Given the description of an element on the screen output the (x, y) to click on. 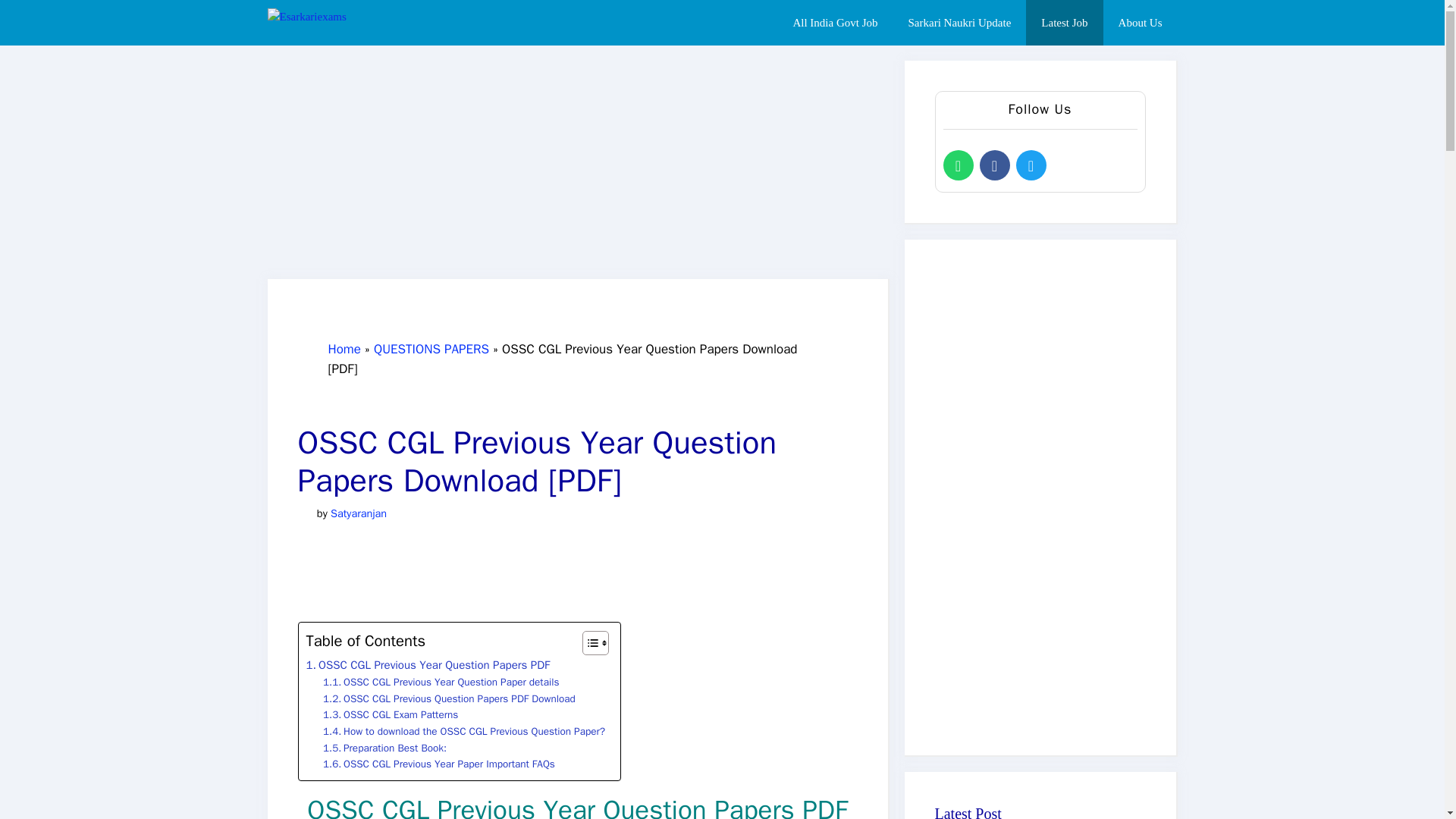
OSSC CGL Previous Year Question Paper details (441, 682)
OSSC CGL Exam Patterns (390, 714)
OSSC CGL Previous Question Papers PDF Download (449, 699)
Home (343, 349)
All India Govt Job (834, 22)
Esarkariexams (351, 22)
Satyaranjan (358, 513)
OSSC CGL Previous Year Question Paper details (441, 682)
QUESTIONS PAPERS (431, 349)
OSSC CGL Previous Year Paper Important FAQs (438, 764)
